Given the description of an element on the screen output the (x, y) to click on. 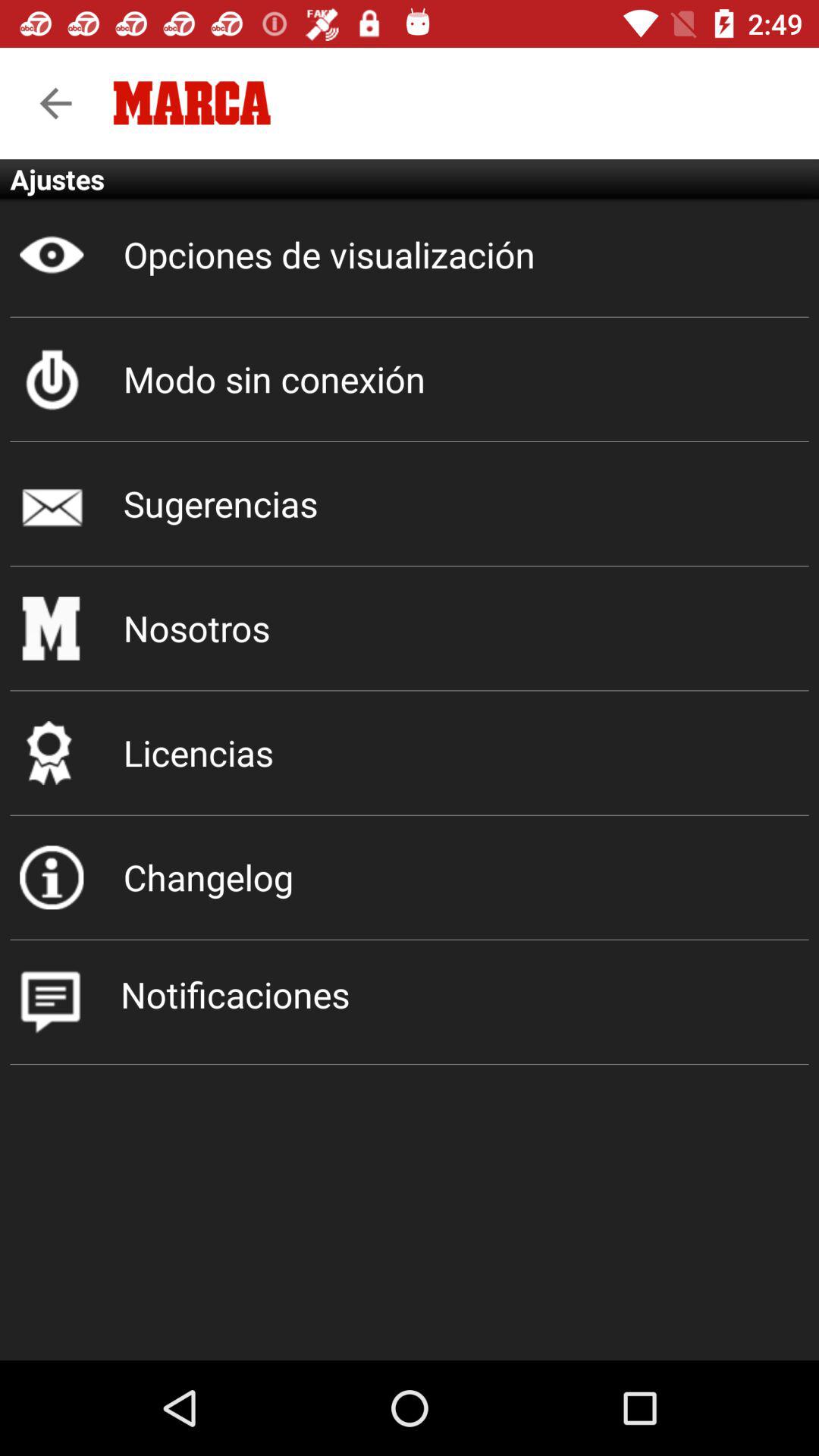
turn off the licencias item (409, 752)
